Given the description of an element on the screen output the (x, y) to click on. 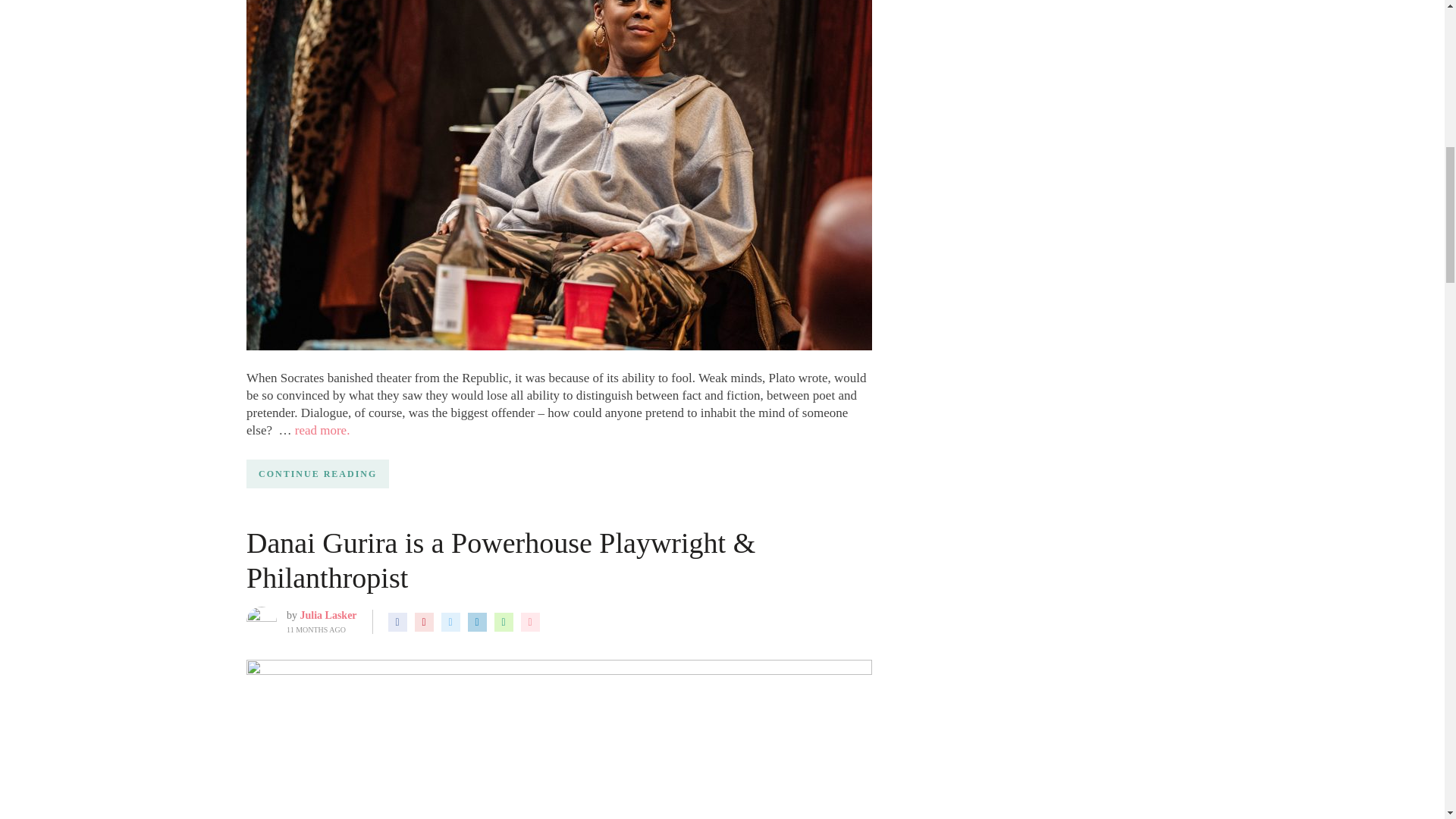
read more. (322, 430)
CONTINUE READING (317, 473)
Julia Lasker (327, 614)
Posts by Julia Lasker (327, 614)
